Given the description of an element on the screen output the (x, y) to click on. 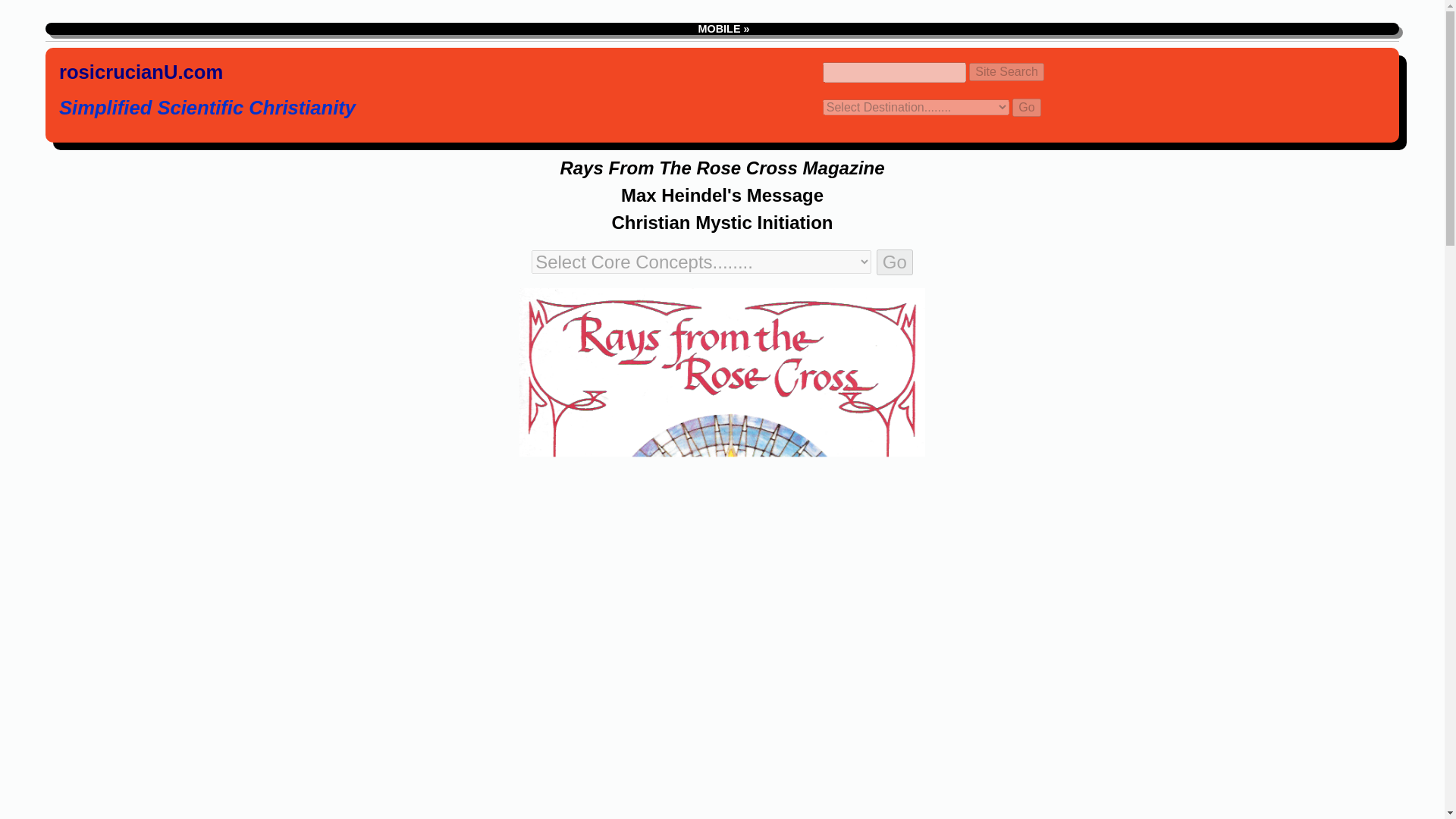
rosicrucianU.com (140, 74)
Site Search (1006, 72)
Site Search (1006, 72)
Go (1026, 107)
Go (894, 262)
